Given the description of an element on the screen output the (x, y) to click on. 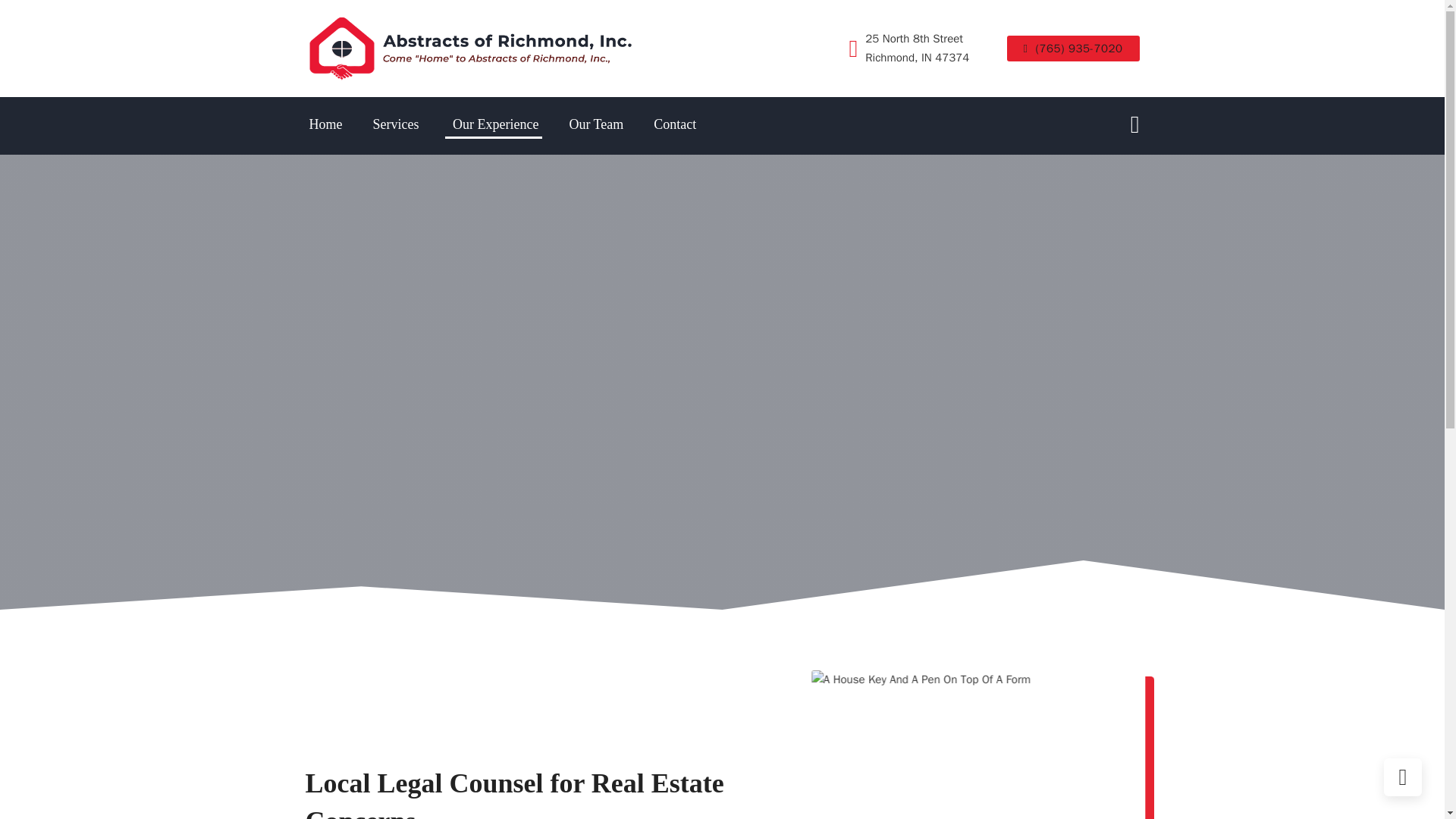
Home (325, 125)
Our Team (595, 125)
Contact (674, 125)
Services (395, 125)
 Our Experience (493, 125)
